Given the description of an element on the screen output the (x, y) to click on. 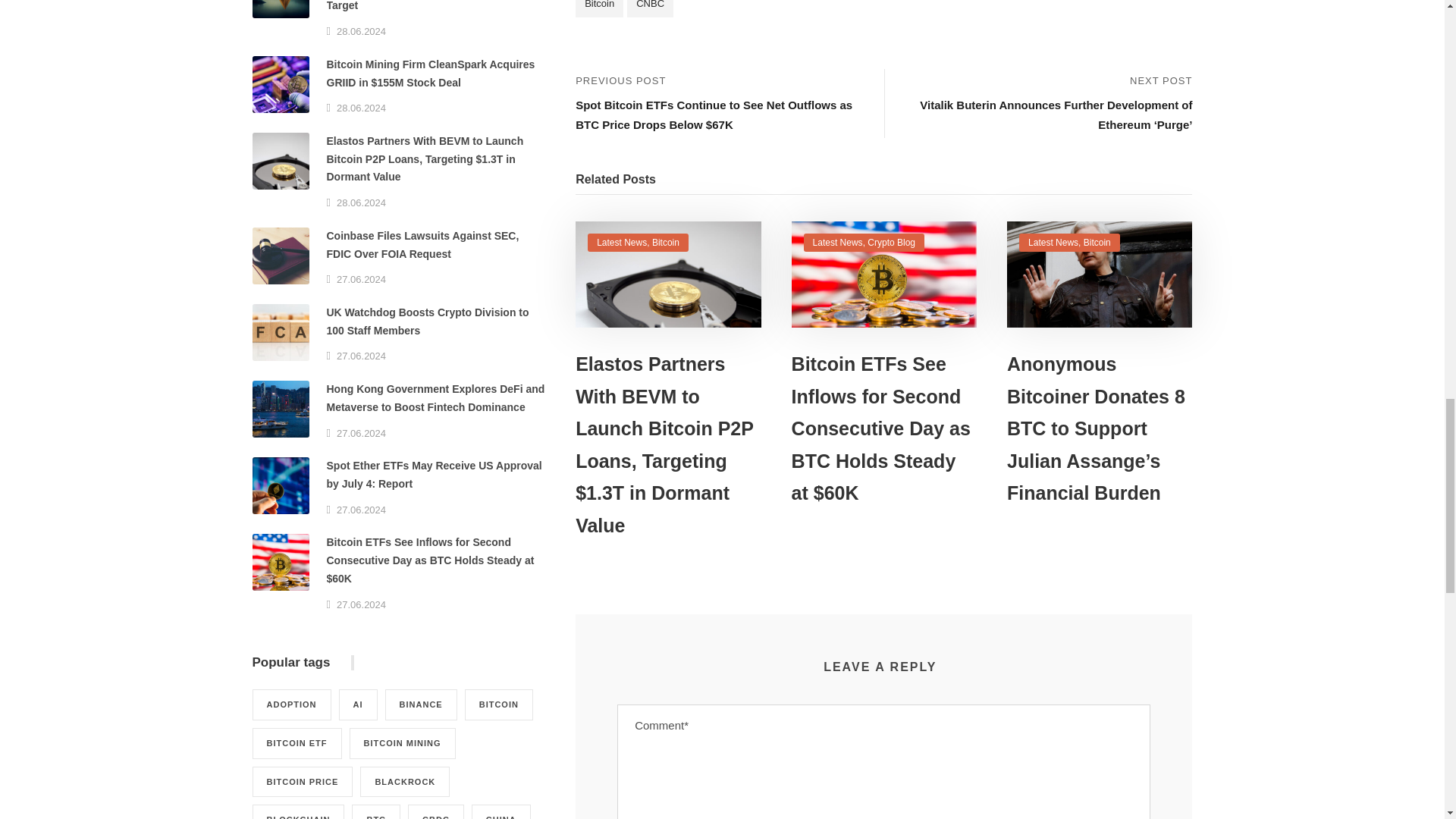
659 (667, 274)
14127716 (884, 274)
